Given the description of an element on the screen output the (x, y) to click on. 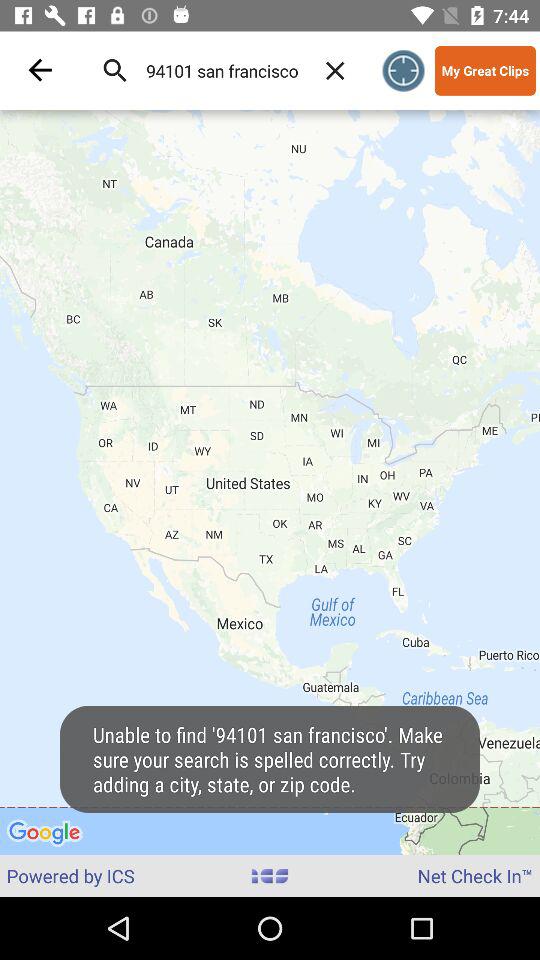
launch the item to the left of my great clips icon (403, 70)
